Given the description of an element on the screen output the (x, y) to click on. 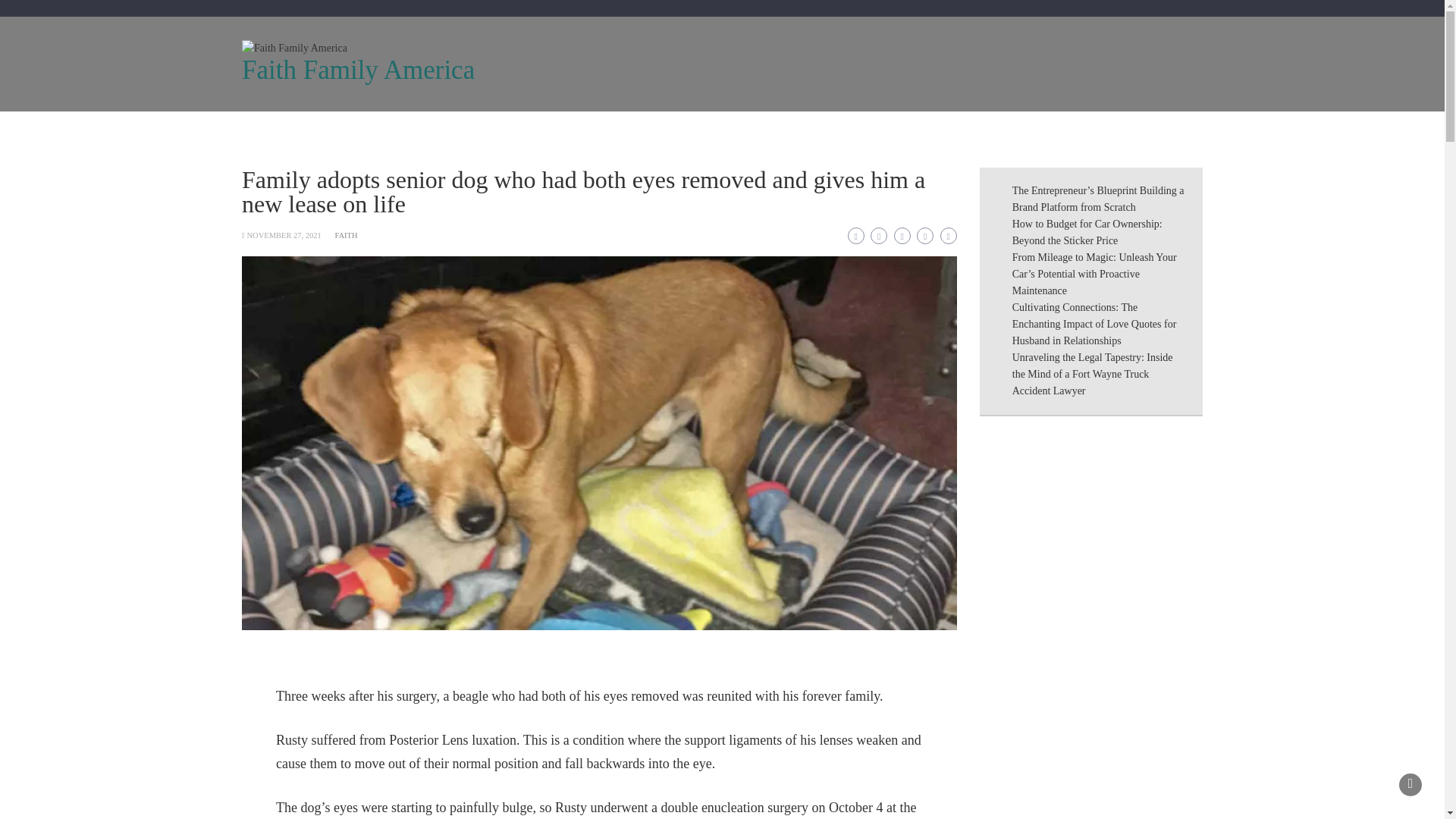
America (542, 130)
Privacy Policy (847, 130)
NOVEMBER 27, 2021 (283, 234)
Family (472, 130)
Faith Family America (357, 70)
FAITH (345, 234)
Contact (763, 130)
How to Budget for Car Ownership: Beyond the Sticker Price (1086, 232)
